Given the description of an element on the screen output the (x, y) to click on. 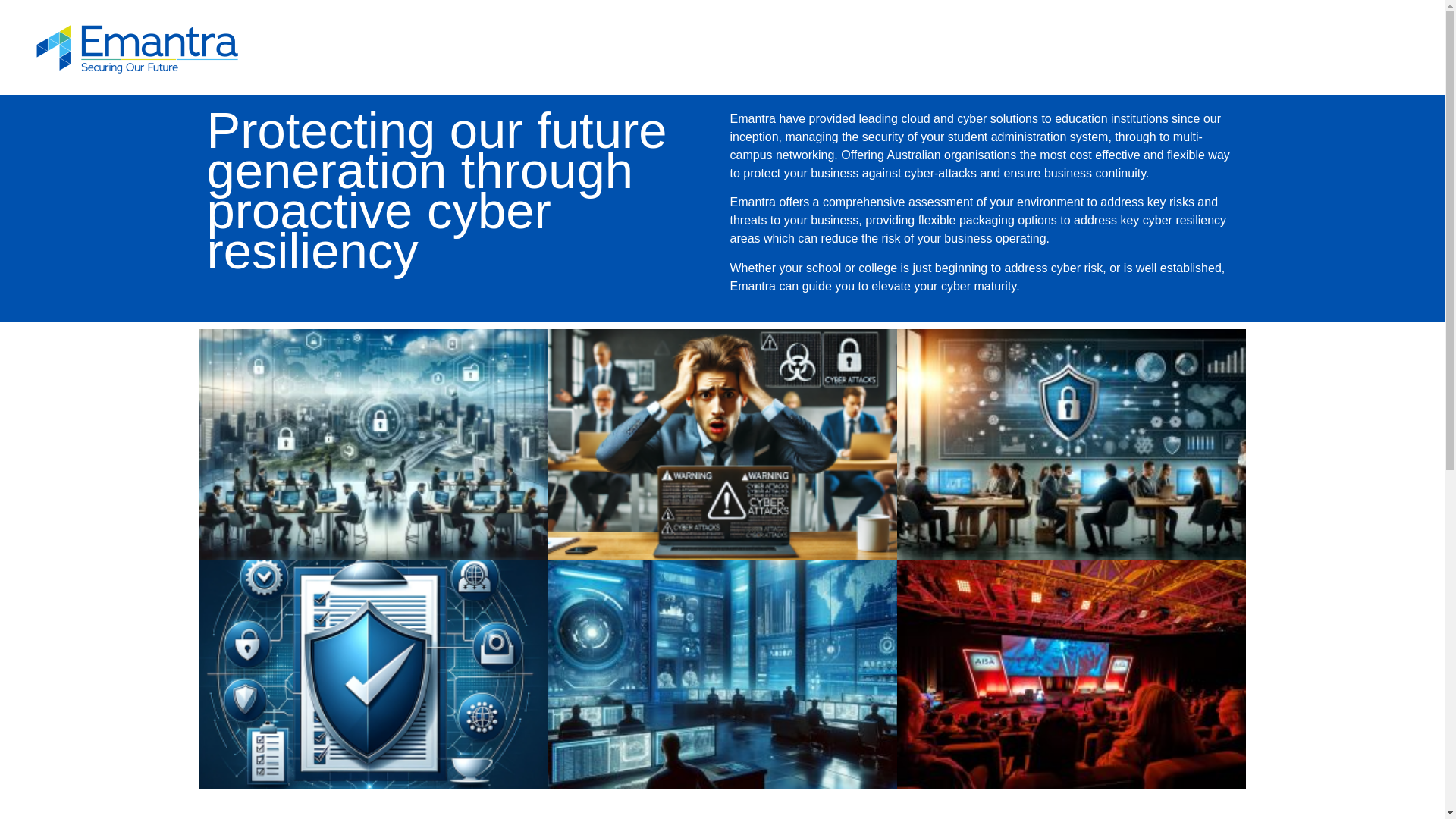
INSIGHTS (1171, 47)
cropped-Emantra-Blue-on-Transparent-2023.png (136, 46)
ABOUT US (1324, 47)
CYBERSTART (921, 47)
CONTACT (1243, 47)
